Given the description of an element on the screen output the (x, y) to click on. 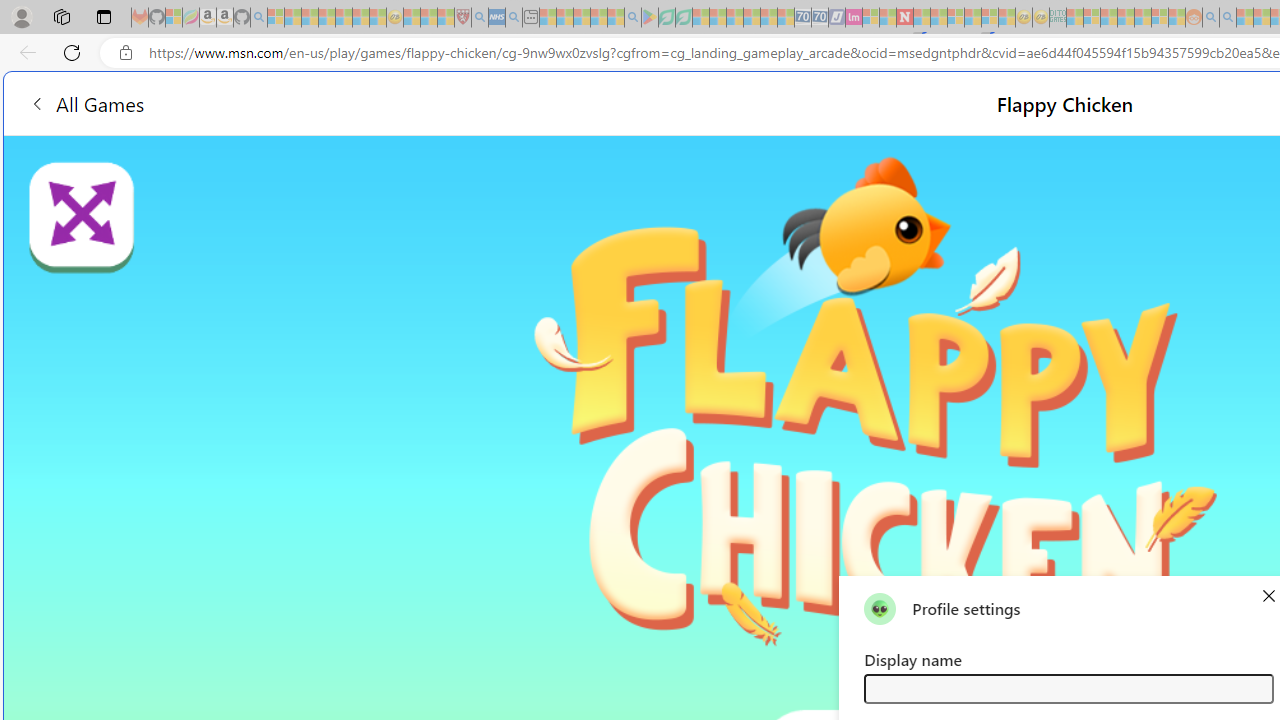
Trusted Community Engagement and Contributions | Guidelines (921, 17)
MSNBC - MSN - Sleeping (1074, 17)
Expert Portfolios - Sleeping (1125, 17)
All Games (373, 102)
Cheap Hotels - Save70.com - Sleeping (819, 17)
utah sues federal government - Search - Sleeping (513, 17)
Tab actions menu (104, 16)
